Given the description of an element on the screen output the (x, y) to click on. 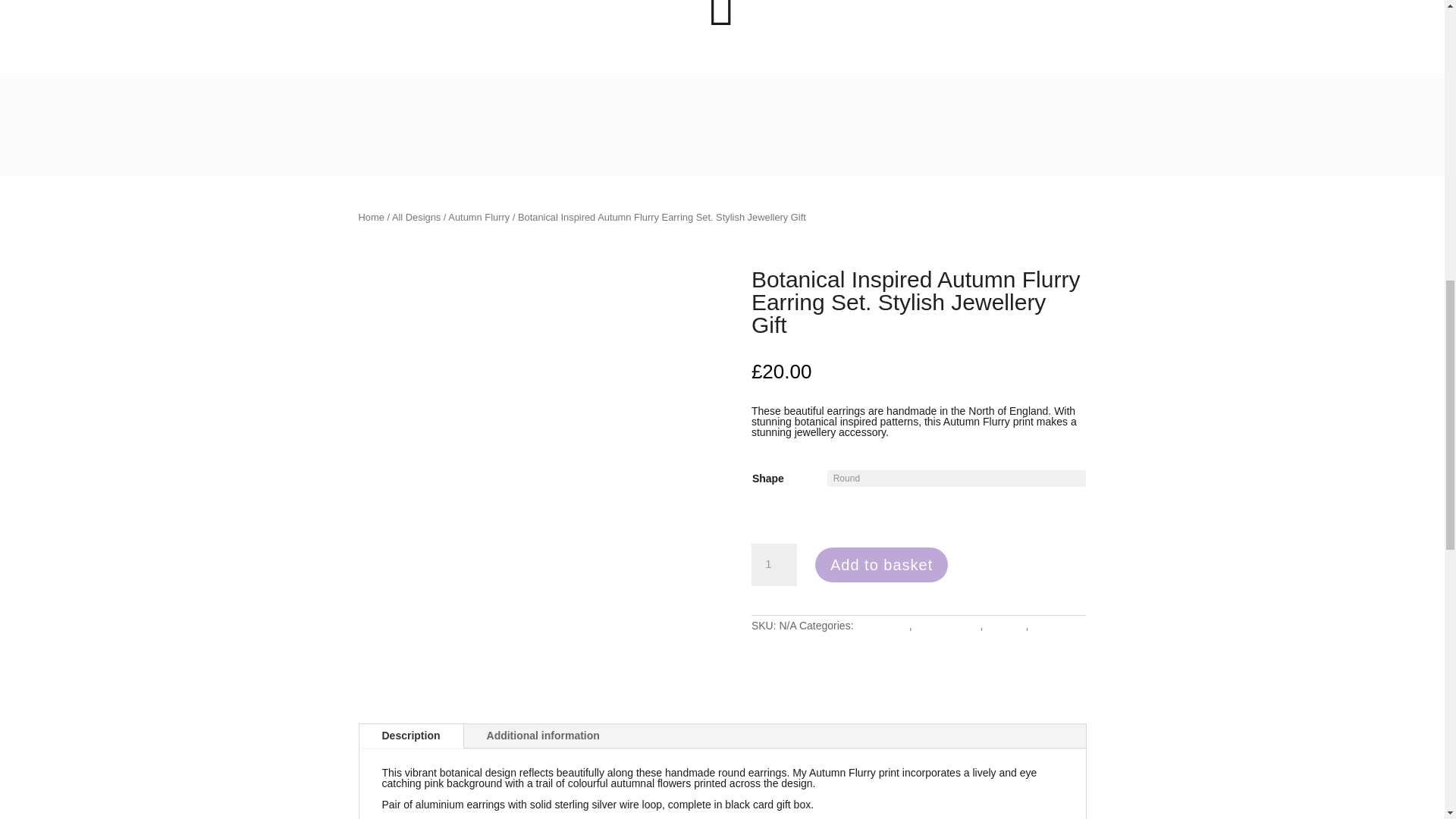
1 (773, 564)
